Given the description of an element on the screen output the (x, y) to click on. 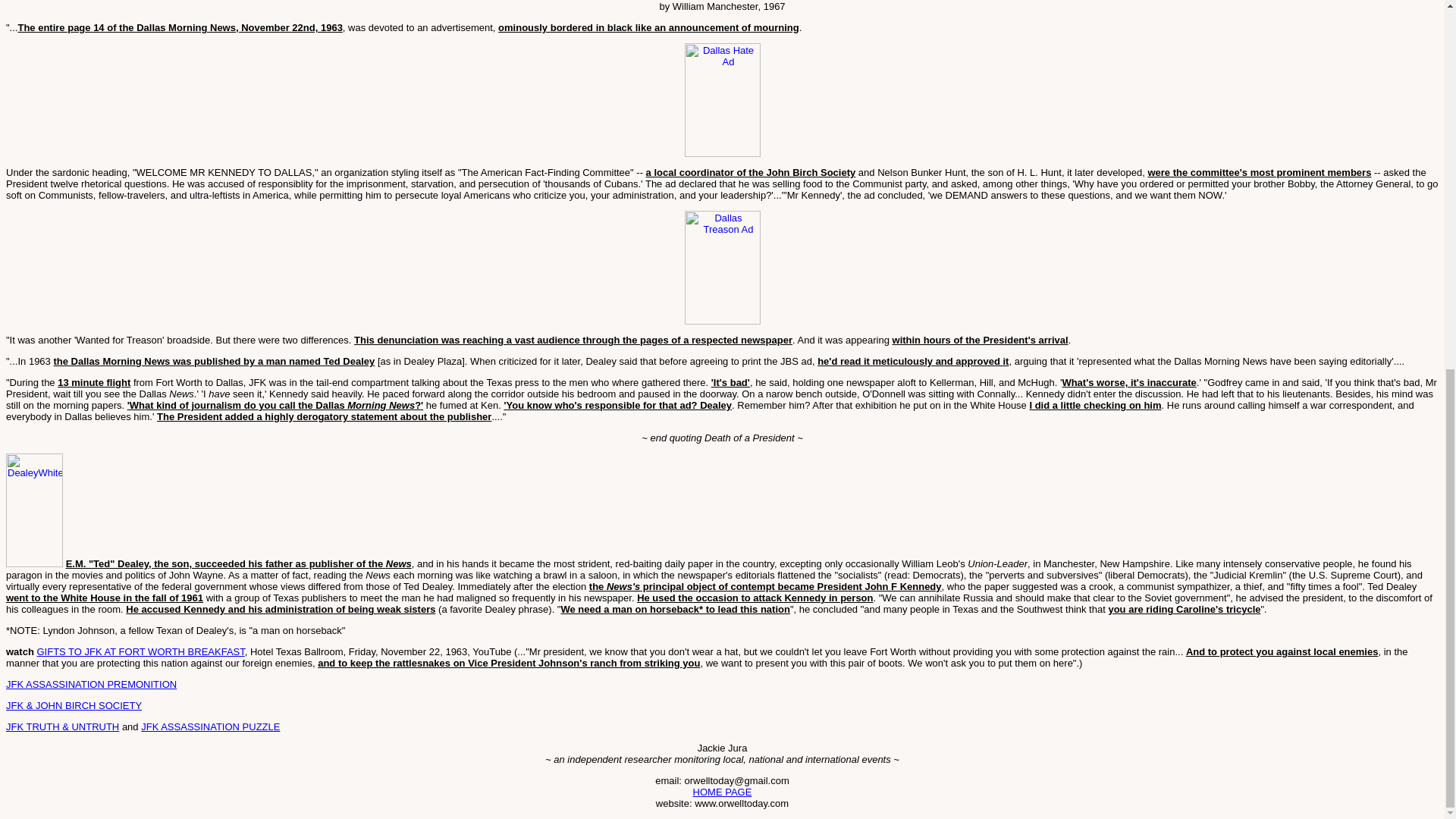
JFK ASSASSINATION PREMONITION (90, 684)
HOME PAGE (722, 791)
JFK ASSASSINATION PUZZLE (210, 726)
GIFTS TO JFK AT FORT WORTH BREAKFAST (140, 651)
